Given the description of an element on the screen output the (x, y) to click on. 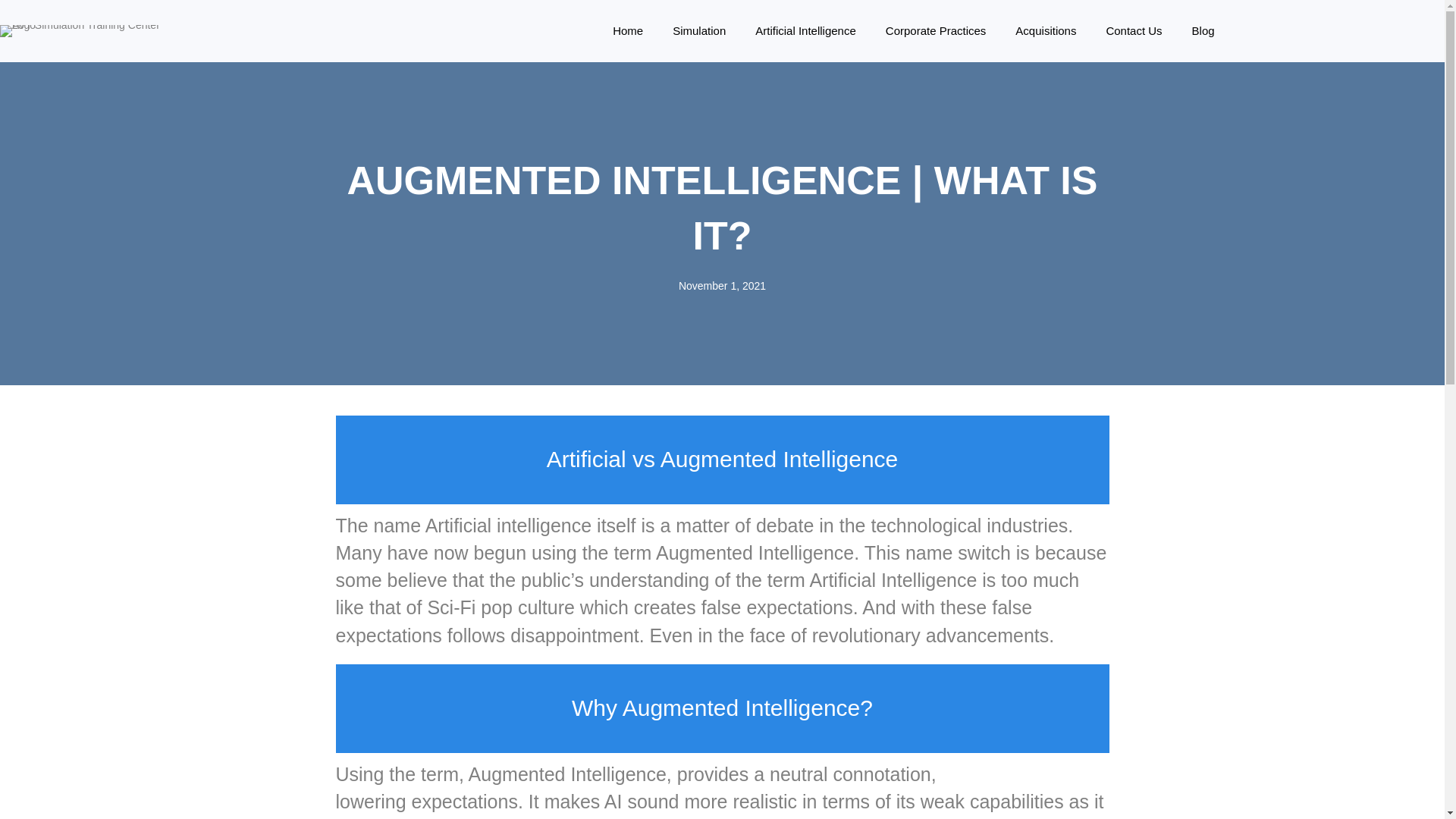
Contact Us (1133, 30)
Blog (1202, 30)
AVT Simulation Training Center Logo (91, 30)
Artificial Intelligence (805, 30)
Home (627, 30)
Simulation (698, 30)
Blog (1202, 30)
ACQ 101: Acquisitions For Your Business (1045, 30)
Corporate Practices (936, 30)
Acquisitions (1045, 30)
